Given the description of an element on the screen output the (x, y) to click on. 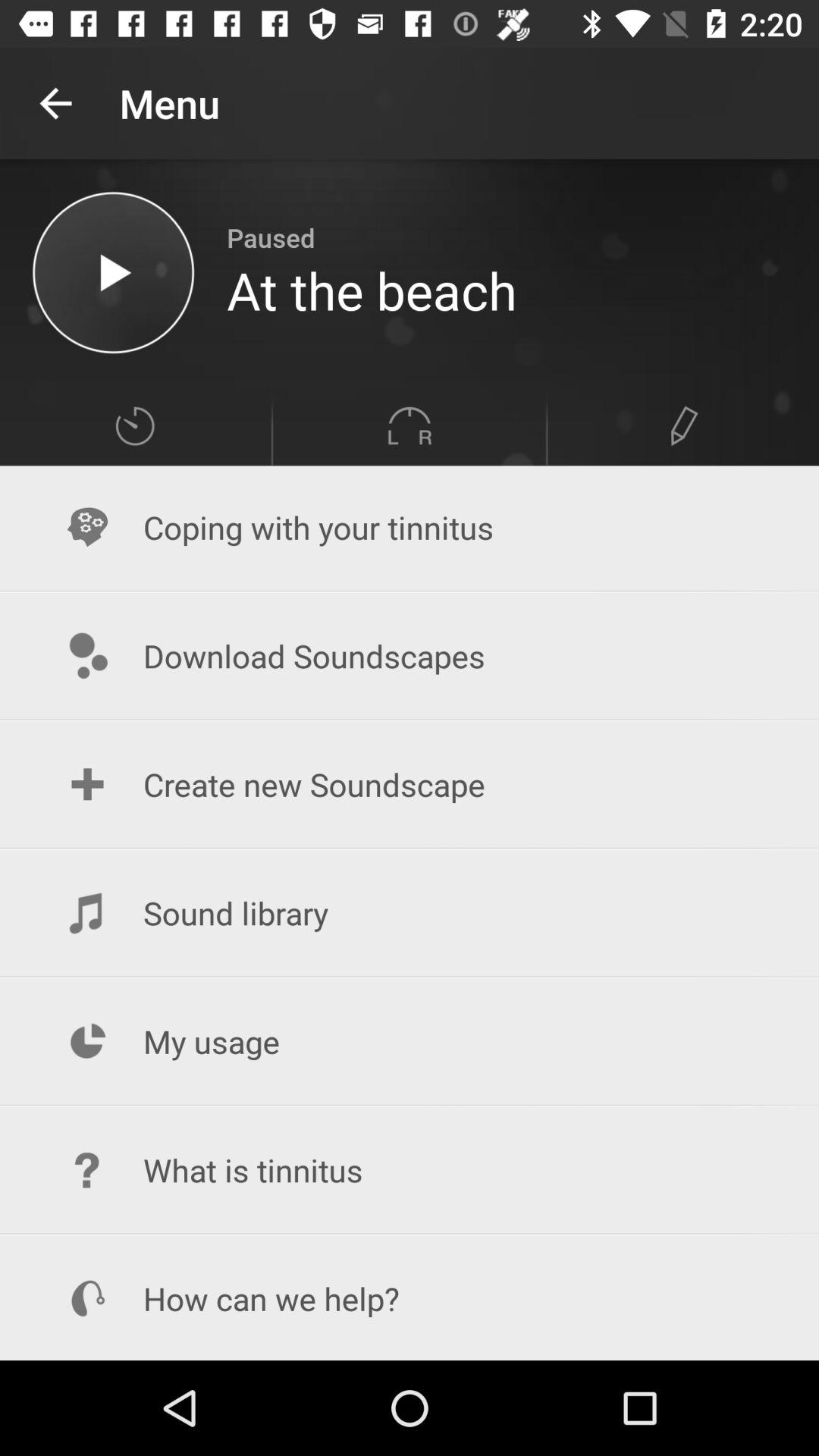
turn off icon above the what is tinnitus (409, 1041)
